Given the description of an element on the screen output the (x, y) to click on. 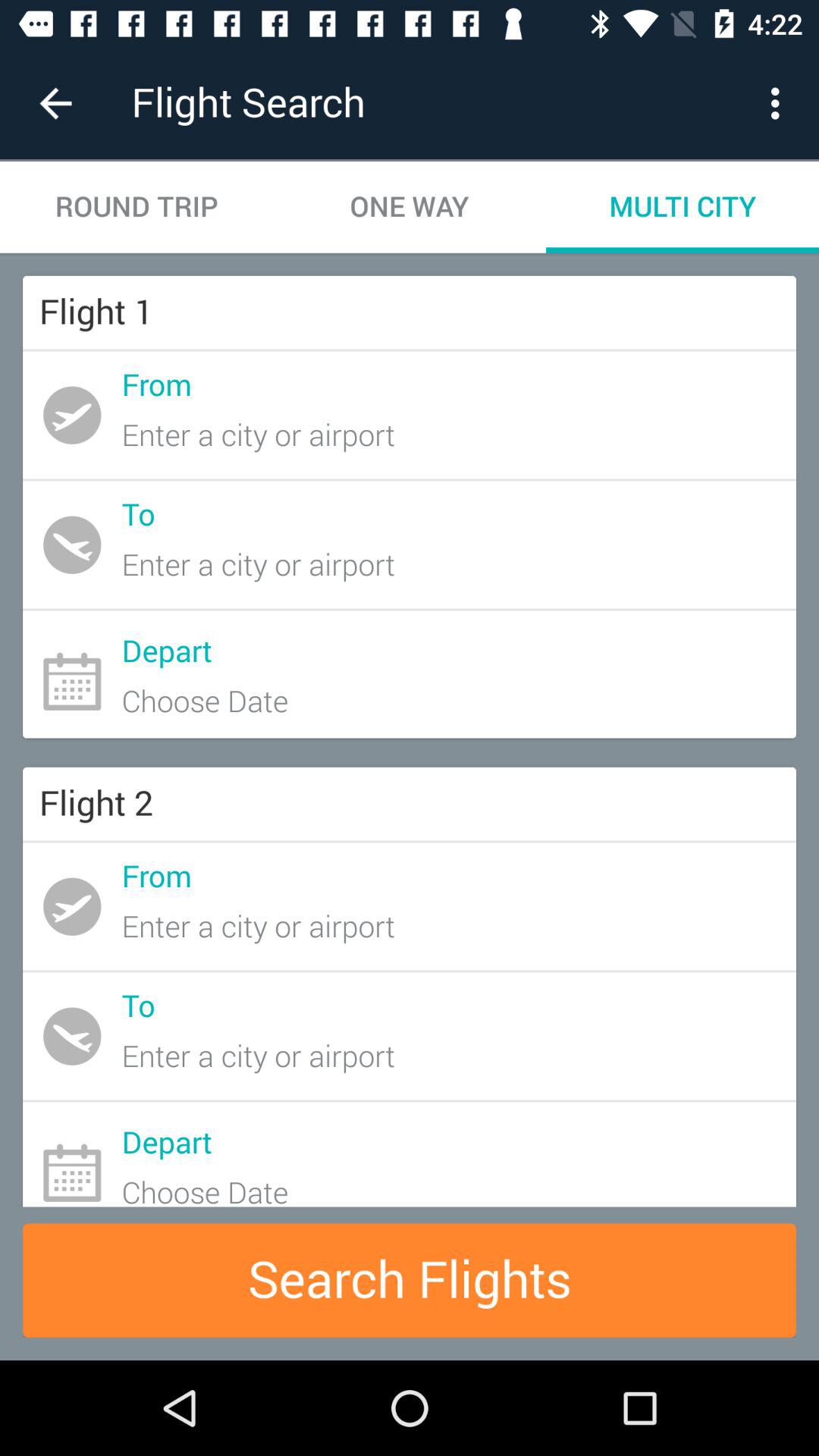
click the icon next to the flight search icon (55, 103)
